Given the description of an element on the screen output the (x, y) to click on. 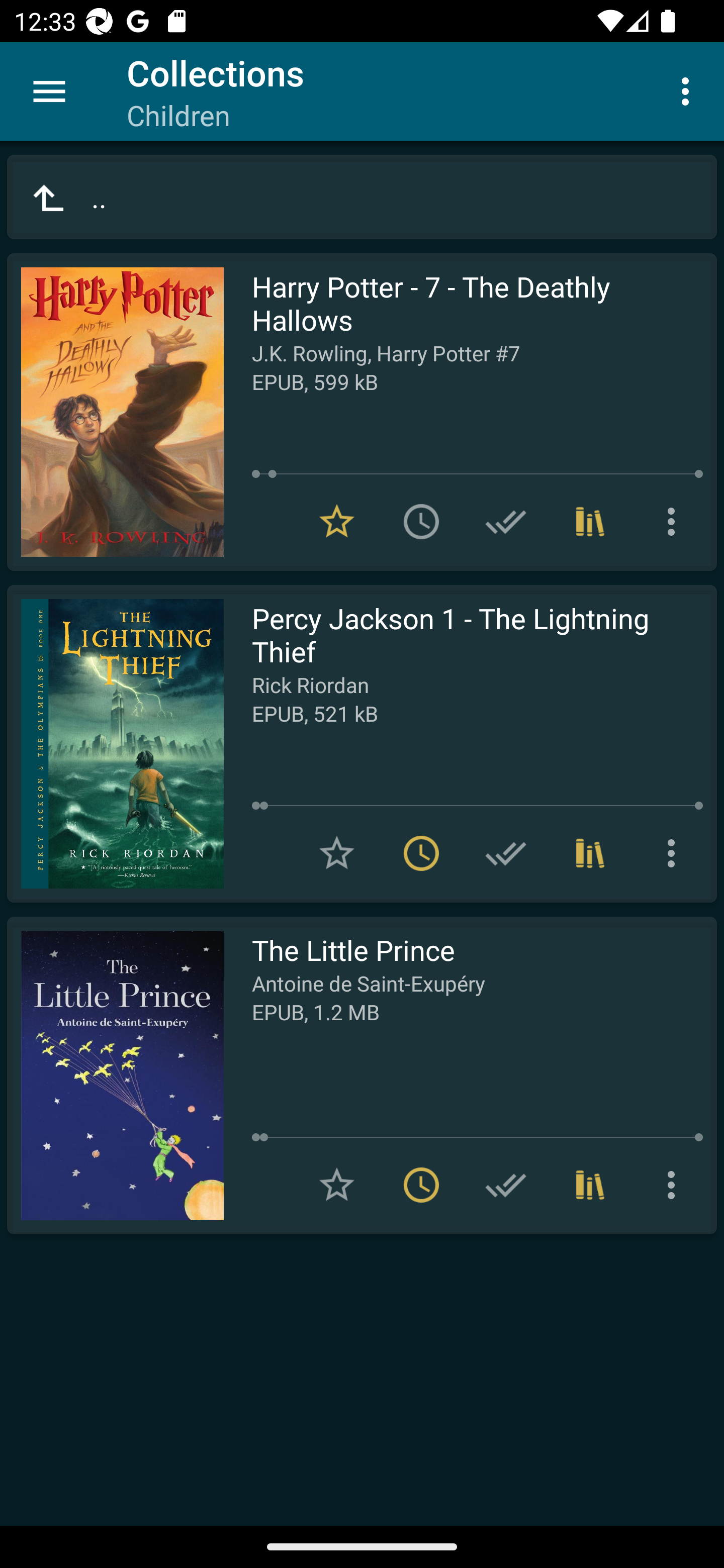
Menu (49, 91)
More options (688, 90)
.. (361, 197)
Read Harry Potter - 7 - The Deathly Hallows (115, 412)
Remove from Favorites (336, 521)
Add to To read (421, 521)
Add to Have read (505, 521)
Collections (2) (590, 521)
More options (674, 521)
Read Percy Jackson 1 - The Lightning Thief (115, 743)
Add to Favorites (336, 852)
Remove from To read (421, 852)
Add to Have read (505, 852)
Collections (1) (590, 852)
More options (674, 852)
Read The Little Prince (115, 1075)
Add to Favorites (336, 1185)
